Given the description of an element on the screen output the (x, y) to click on. 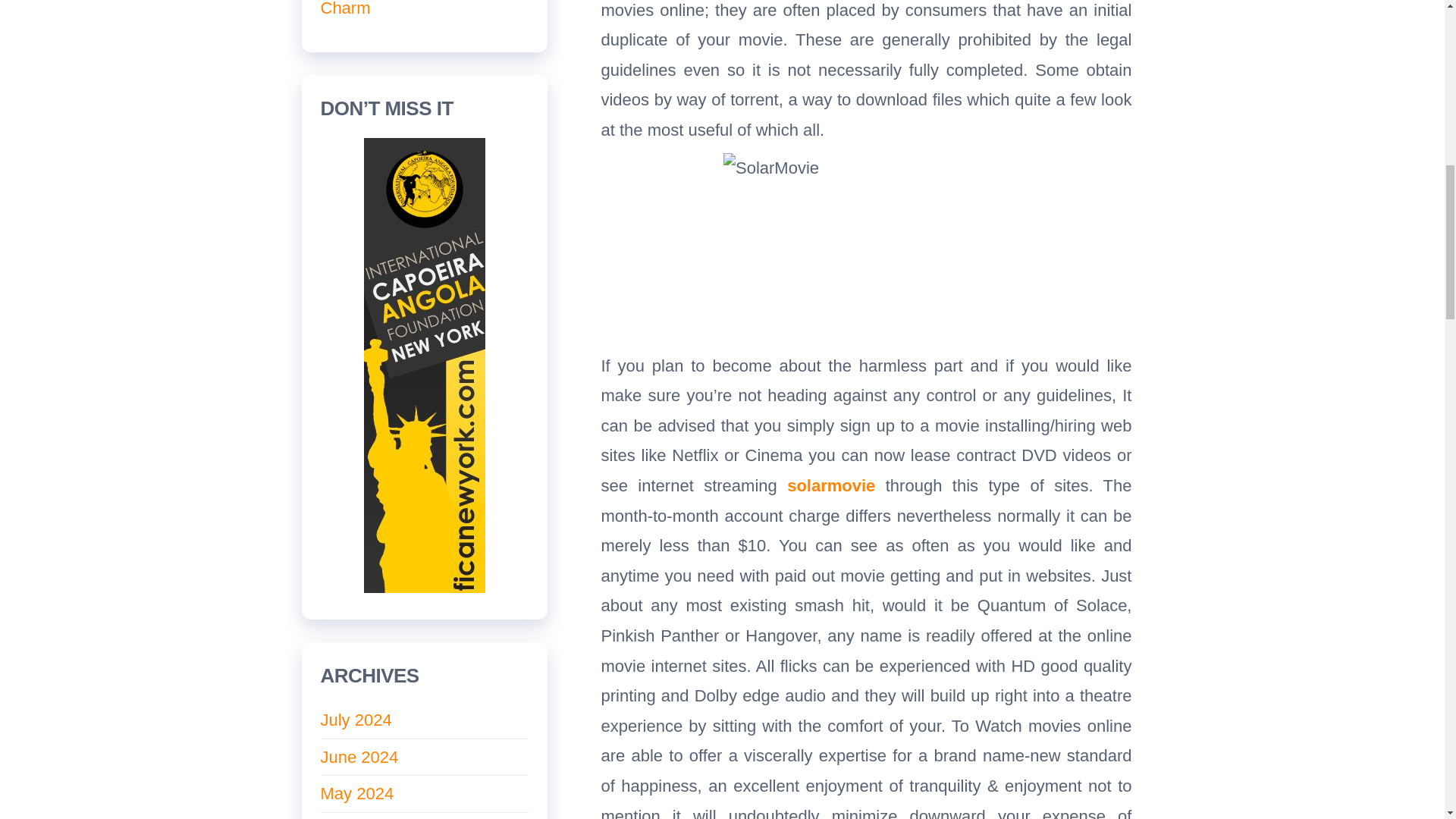
June 2024 (358, 756)
July 2024 (355, 719)
May 2024 (356, 793)
solarmovie (831, 485)
